Given the description of an element on the screen output the (x, y) to click on. 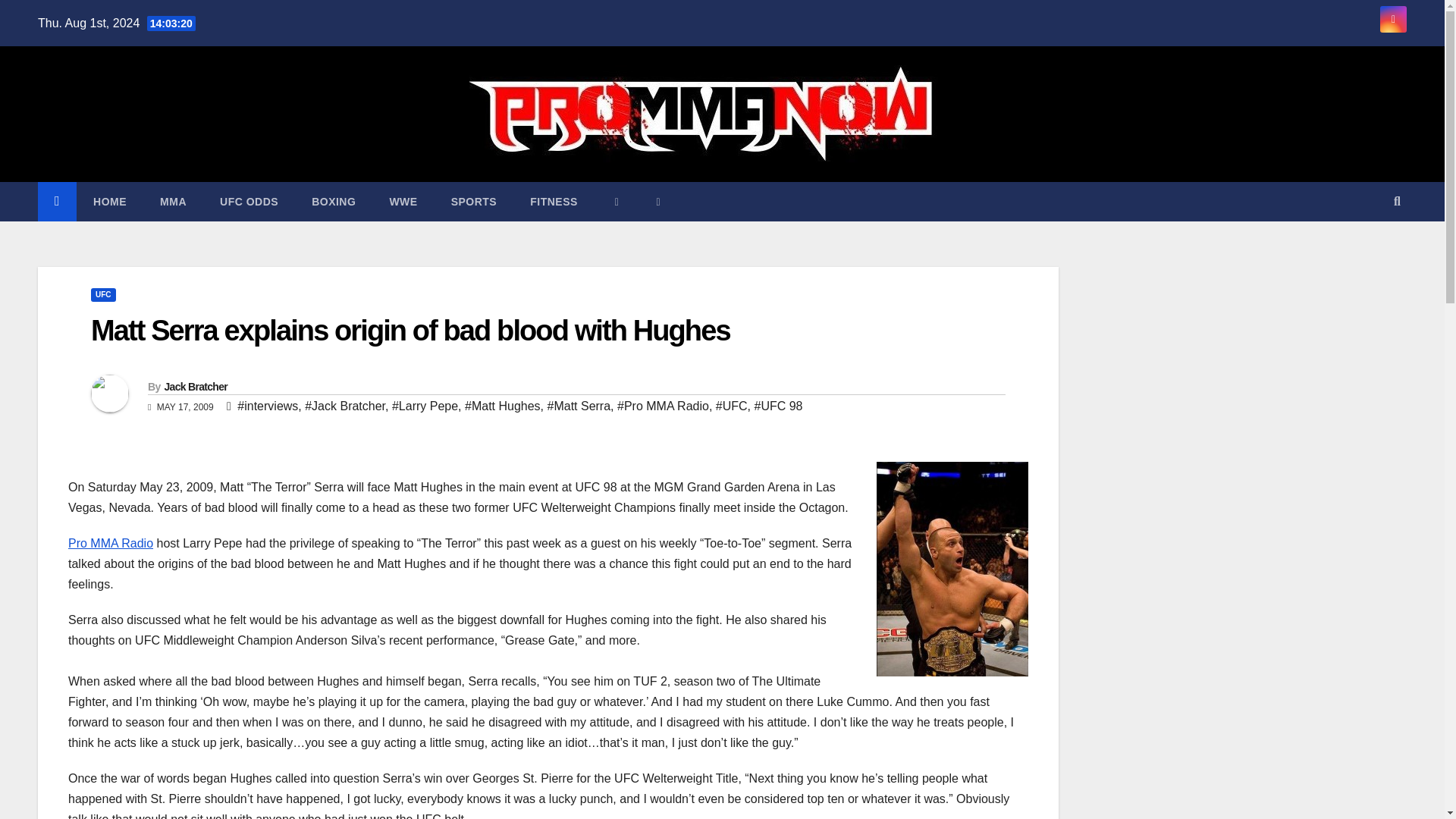
Matt Serra explains origin of bad blood with Hughes (410, 330)
HOME (109, 201)
Pro MMA Radio (110, 543)
Fitness (553, 201)
Sports (473, 201)
FITNESS (553, 201)
Home (109, 201)
Boxing (333, 201)
MMA (172, 201)
